Given the description of an element on the screen output the (x, y) to click on. 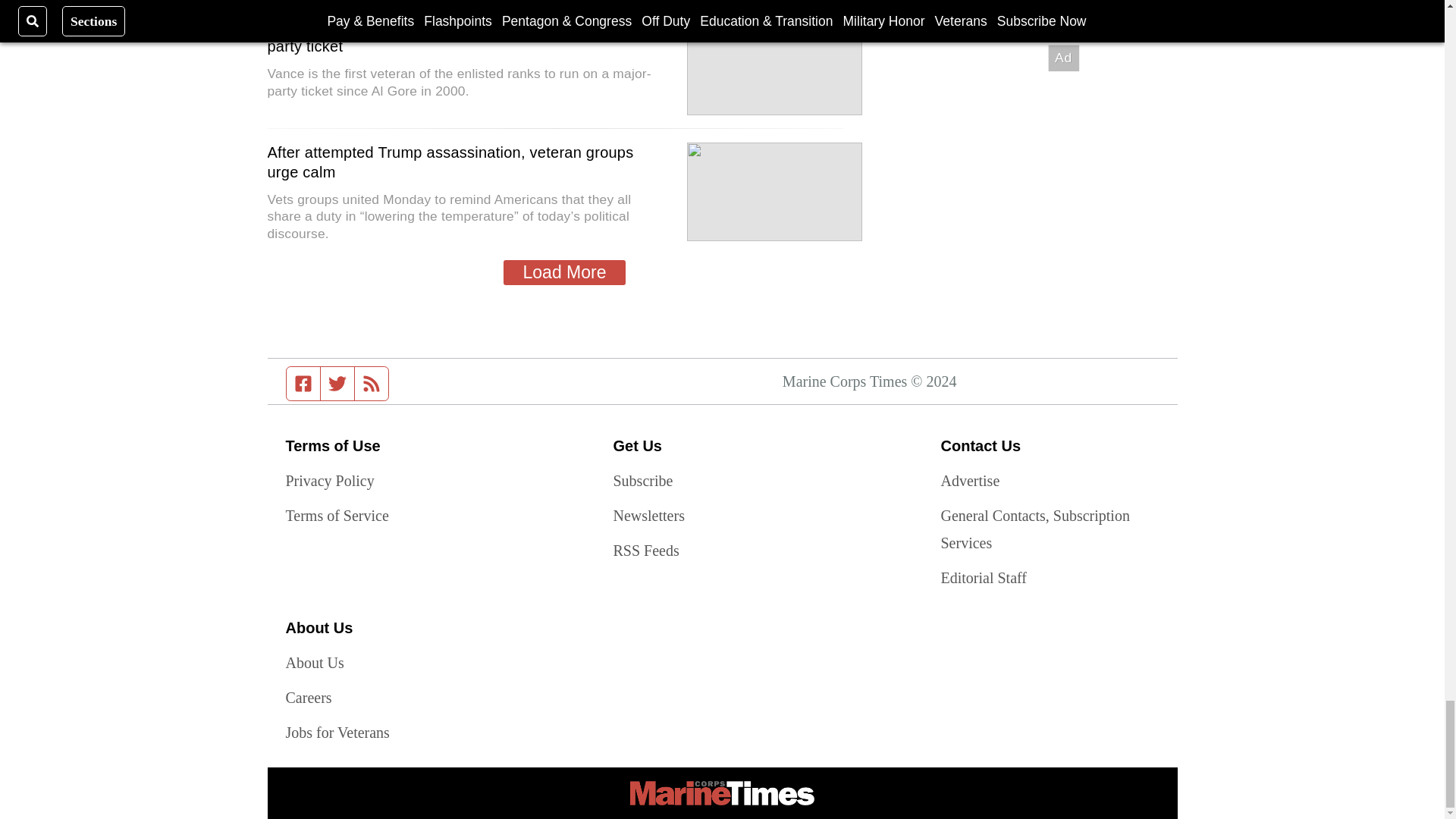
Facebook page (303, 383)
RSS feed (371, 383)
Twitter feed (336, 383)
